Given the description of an element on the screen output the (x, y) to click on. 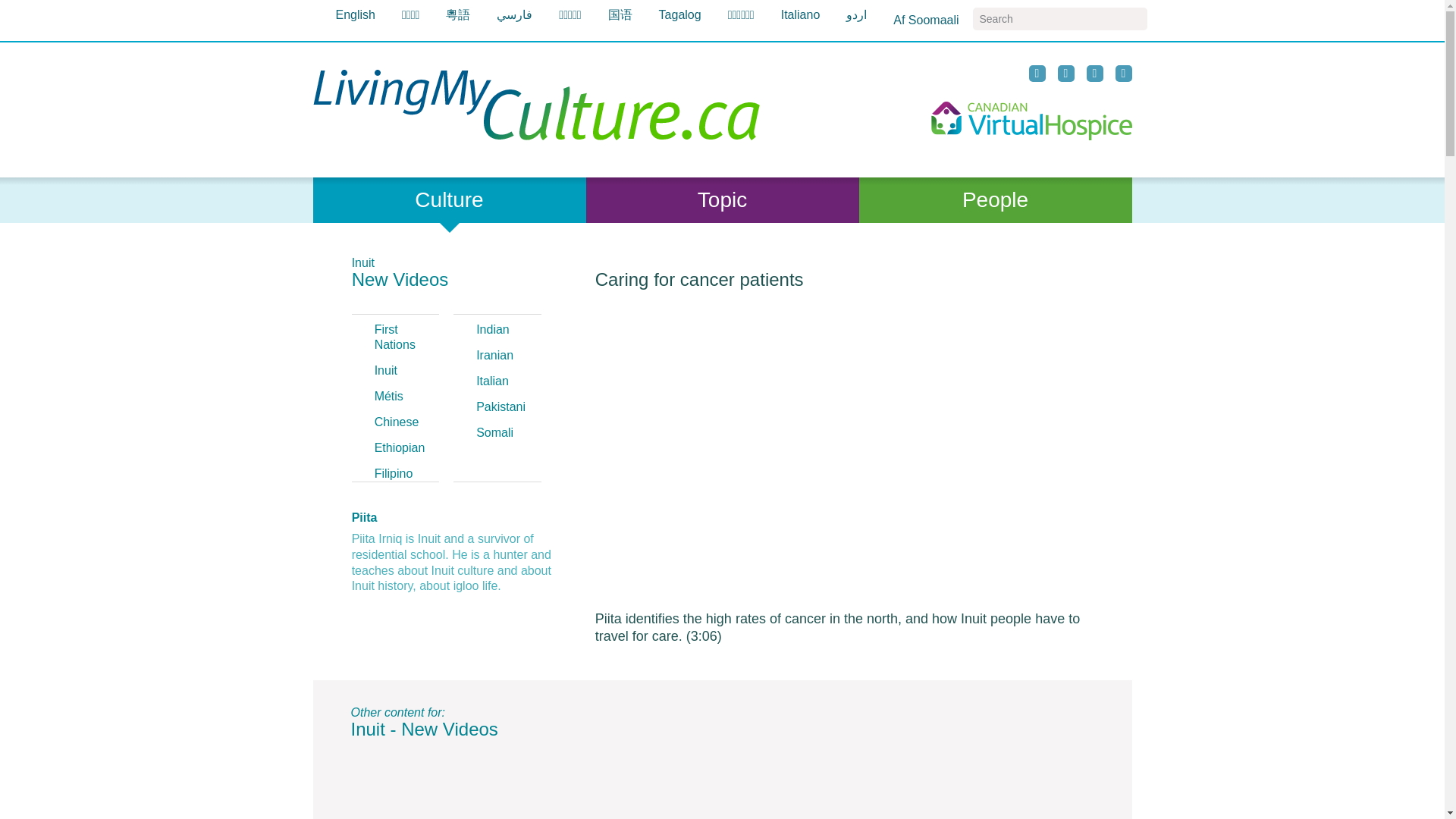
Indian (492, 328)
Chinese (396, 421)
Italian (492, 380)
Filipino (393, 472)
Culture (449, 199)
First Nations (394, 336)
New Videos (400, 279)
English (354, 14)
Somali (494, 431)
Topic (722, 199)
